Given the description of an element on the screen output the (x, y) to click on. 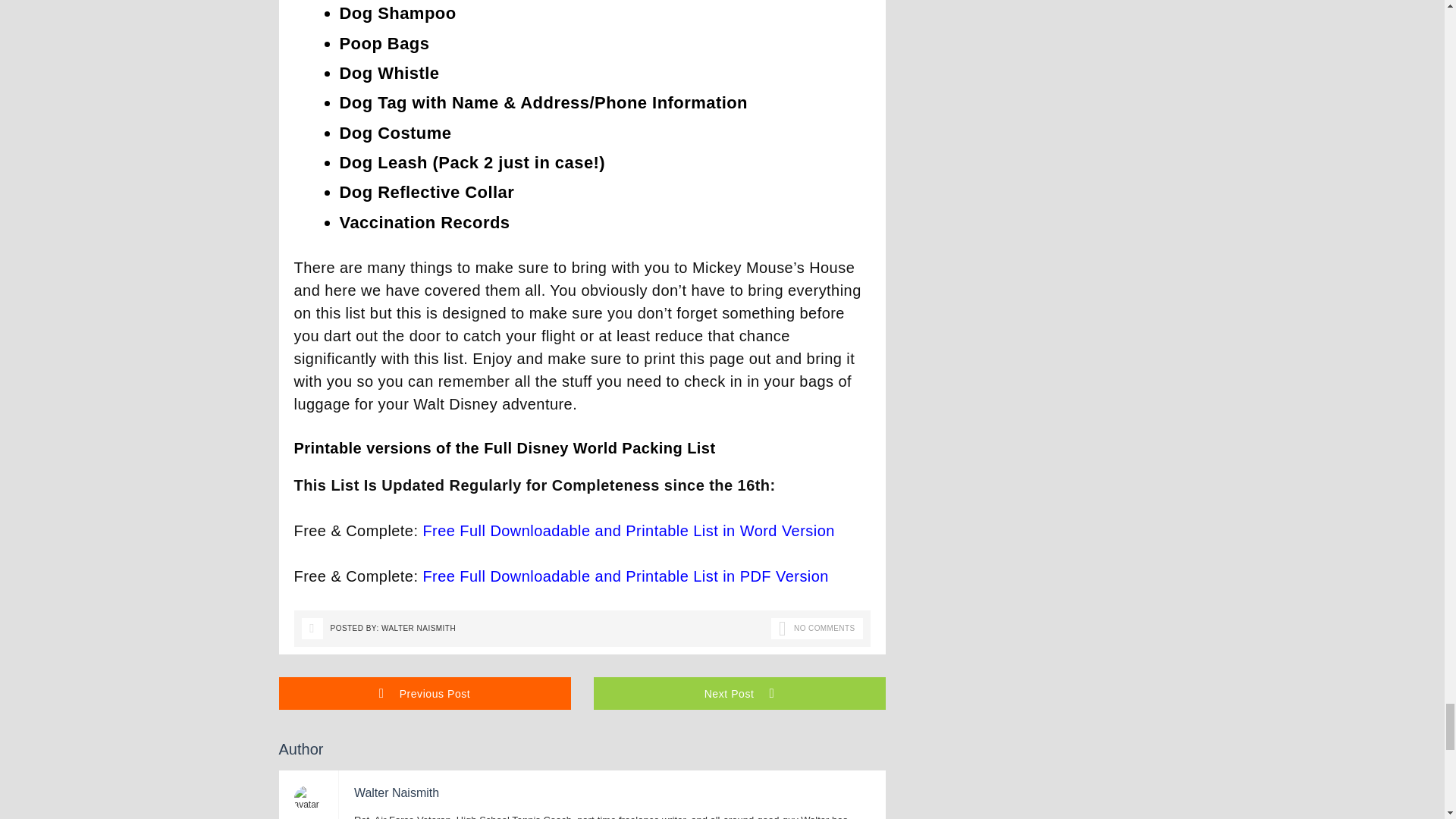
Free Full Downloadable and Printable List in Word Version (628, 530)
Free Full Downloadable and Printable List in PDF Version (625, 576)
